Given the description of an element on the screen output the (x, y) to click on. 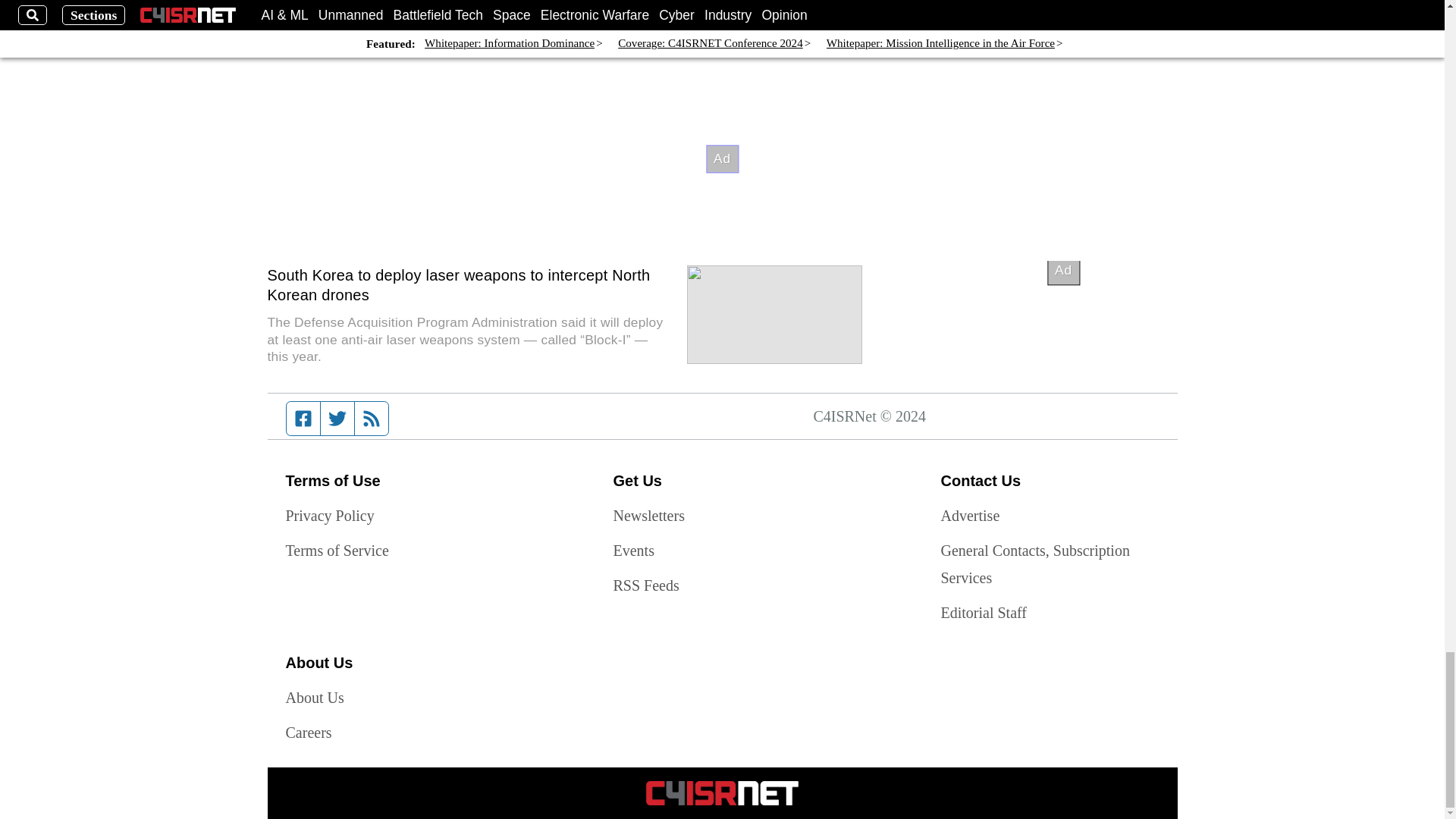
RSS feed (371, 418)
Facebook page (303, 418)
Twitter feed (336, 418)
